Given the description of an element on the screen output the (x, y) to click on. 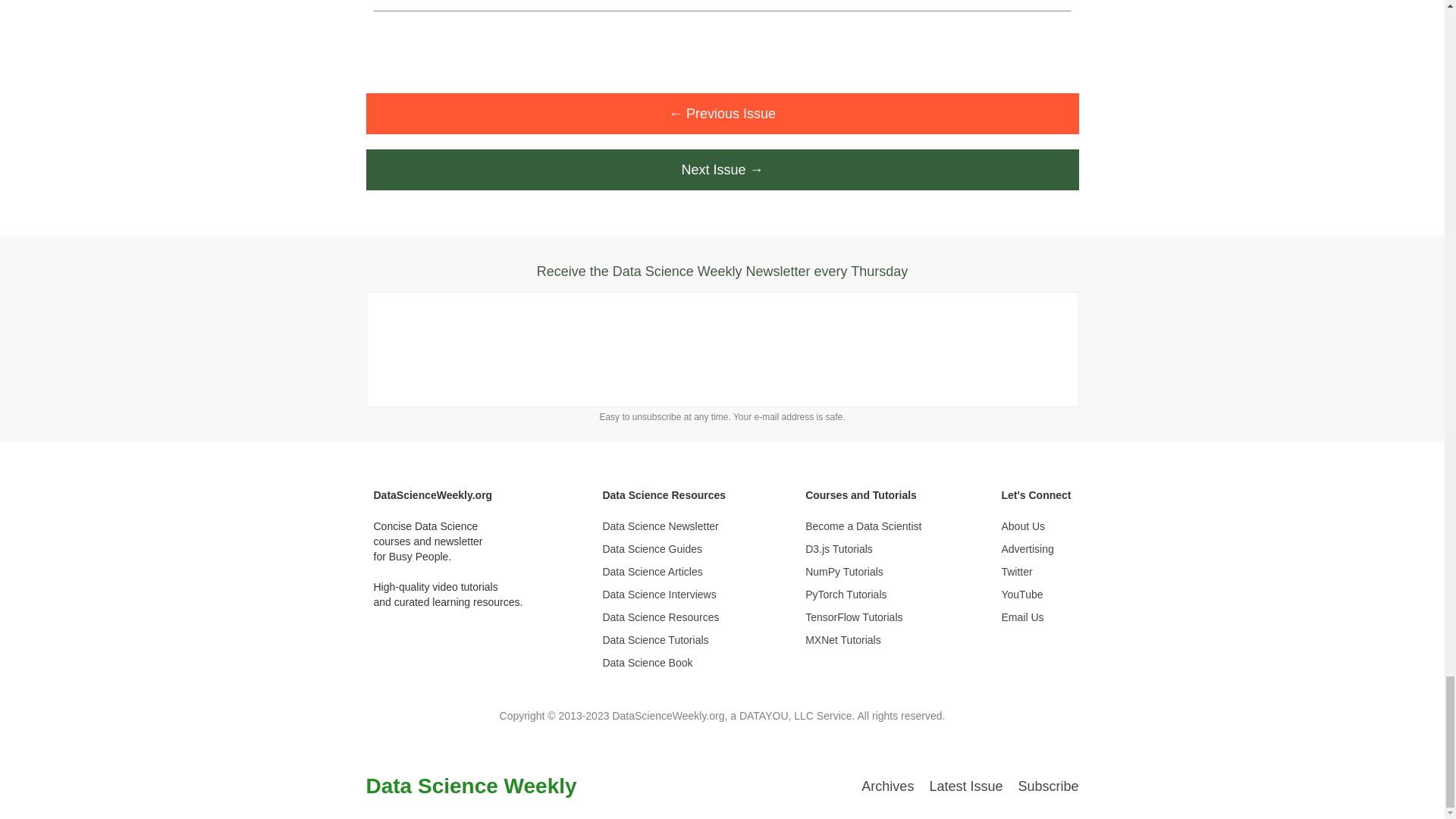
Become a Data Scientist (863, 525)
NumPy Tutorials (863, 571)
Data Science Resources (663, 616)
Data Science Book (663, 662)
PyTorch Tutorials (863, 594)
Data Science Guides (663, 548)
Data Science Newsletter (663, 525)
Data Science Articles (663, 571)
Data Science Interviews (663, 594)
D3.js Tutorials (863, 548)
Data Science Tutorials (663, 639)
